Given the description of an element on the screen output the (x, y) to click on. 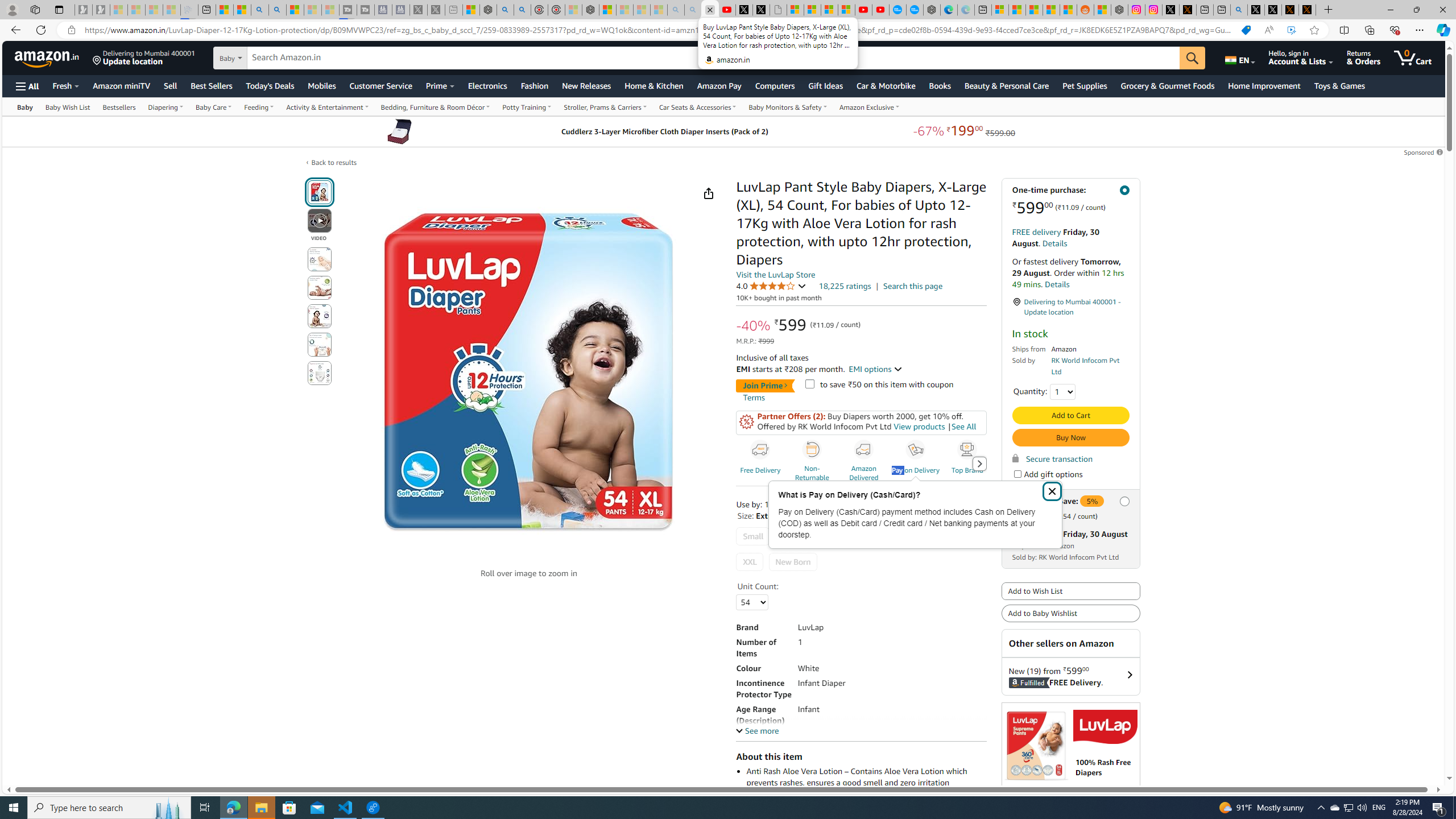
Microsoft Start - Sleeping (312, 9)
Shanghai, China hourly forecast | Microsoft Weather (1034, 9)
poe ++ standard - Search (522, 9)
Shanghai, China weather forecast | Microsoft Weather (1016, 9)
Day 1: Arriving in Yemen (surreal to be here) - YouTube (727, 9)
Newsletter Sign Up - Sleeping (101, 9)
Wildlife - MSN (470, 9)
